Given the description of an element on the screen output the (x, y) to click on. 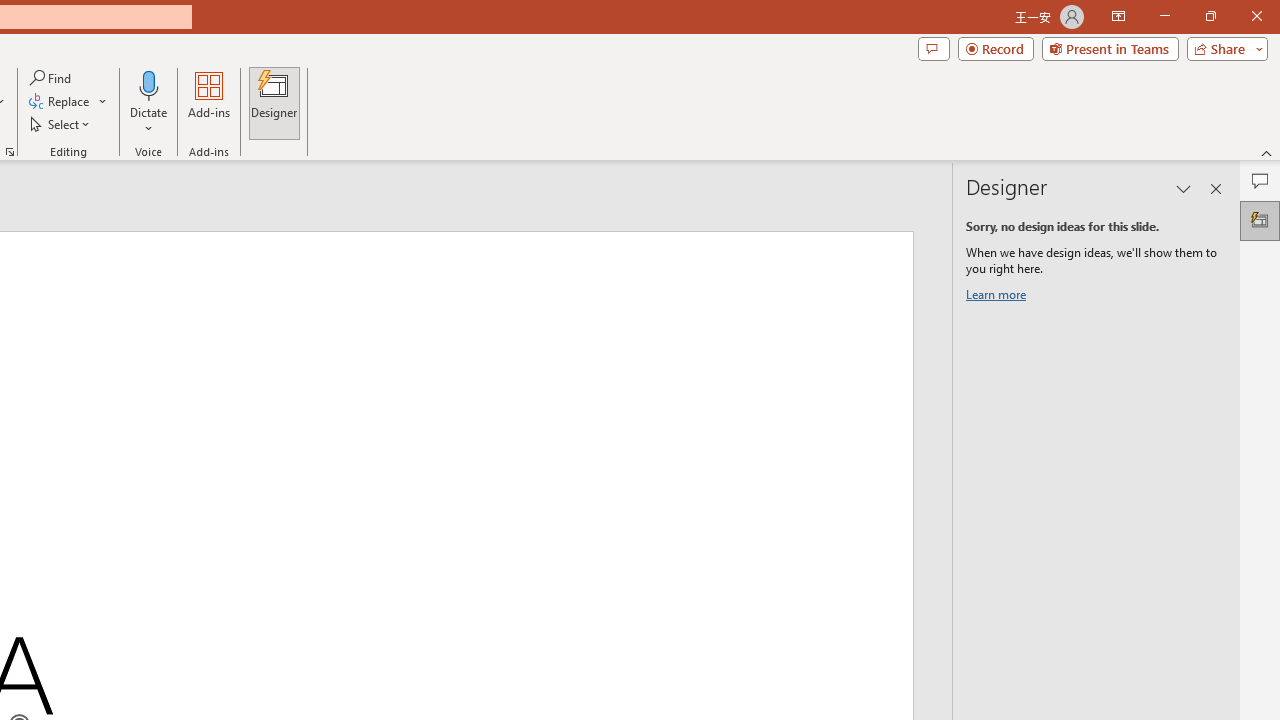
Learn more (998, 297)
